Given the description of an element on the screen output the (x, y) to click on. 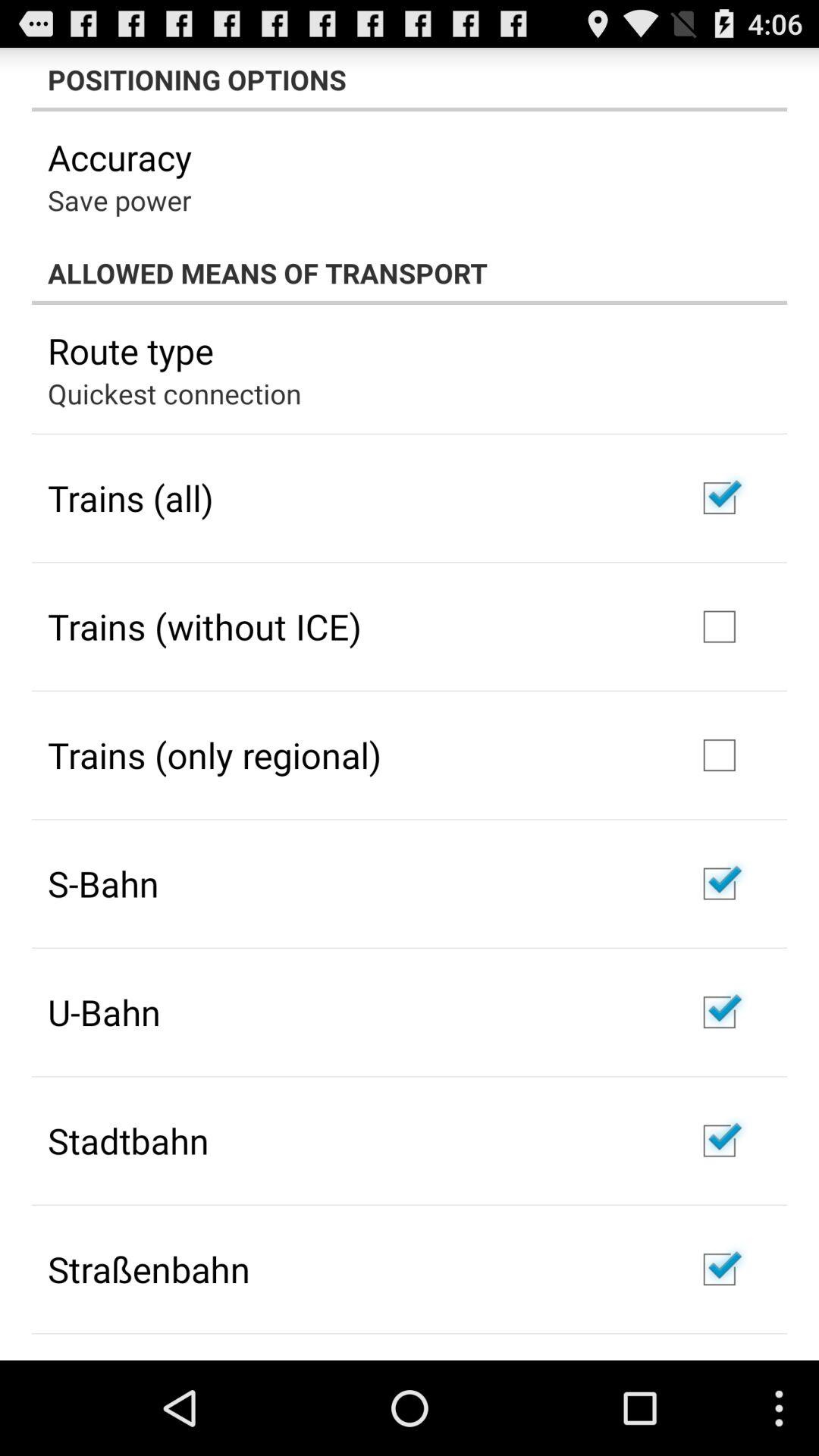
open item above route type app (409, 272)
